Given the description of an element on the screen output the (x, y) to click on. 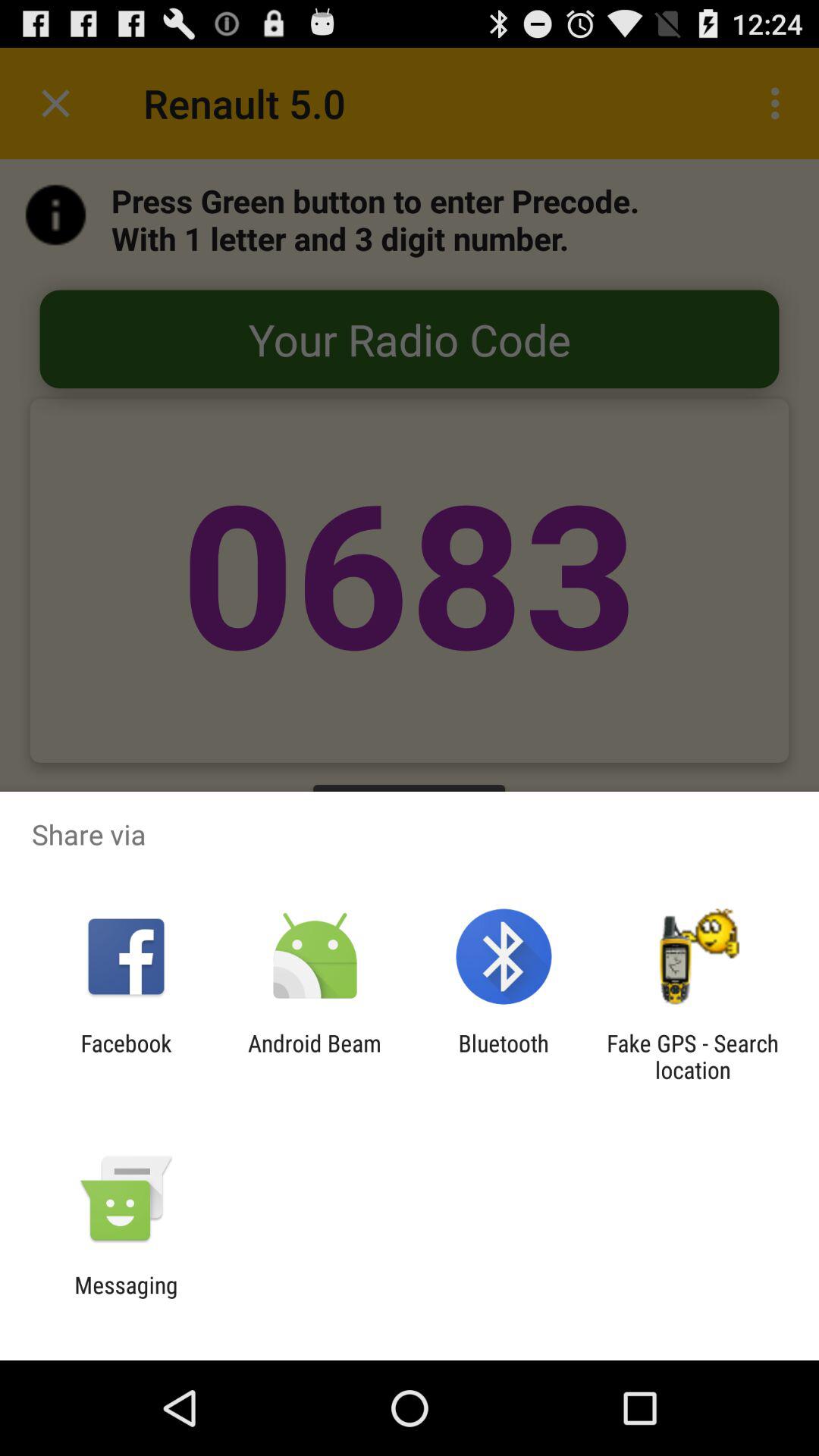
jump to the facebook icon (125, 1056)
